Given the description of an element on the screen output the (x, y) to click on. 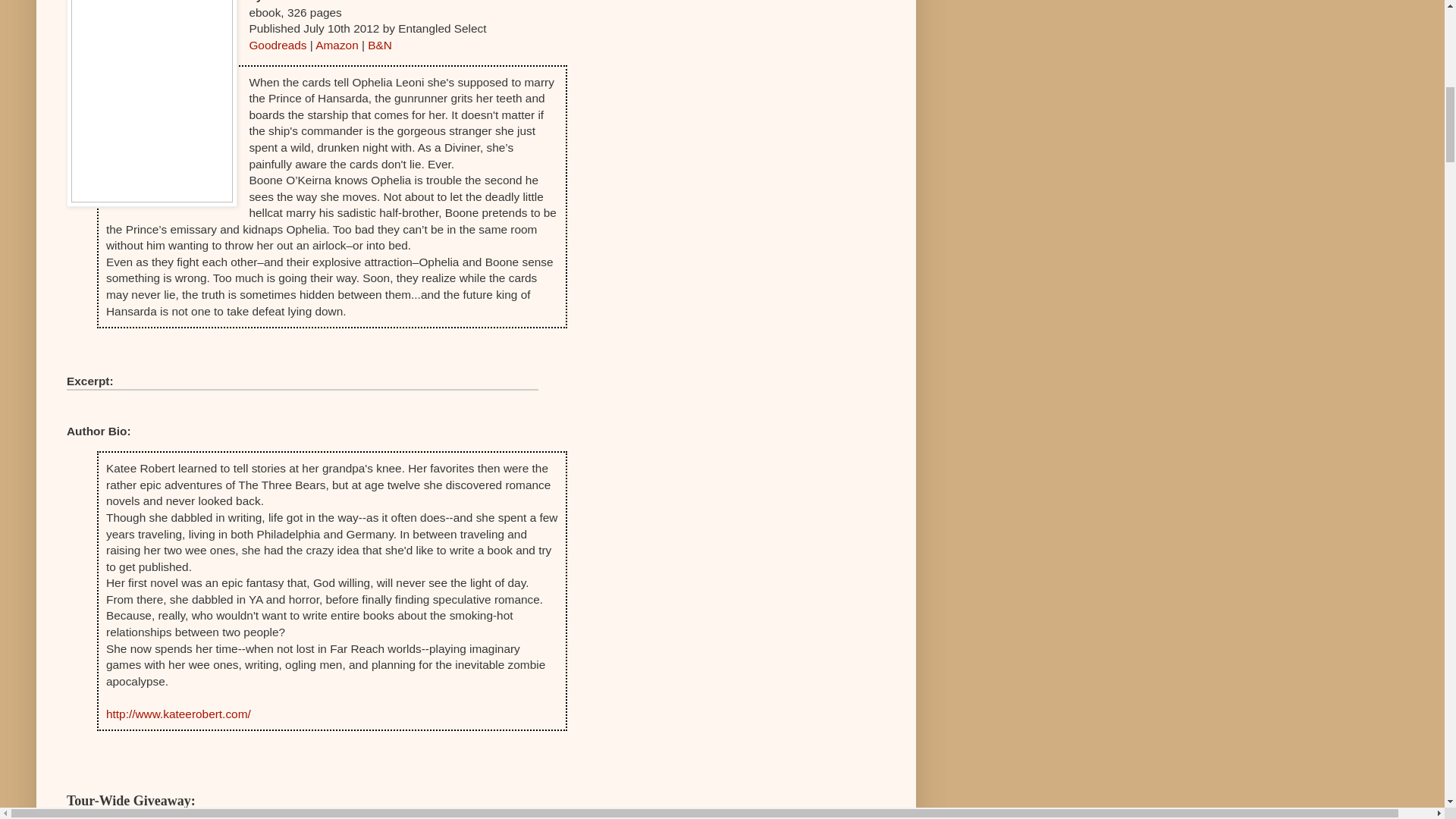
Amazon (336, 44)
Goodreads (276, 44)
